Given the description of an element on the screen output the (x, y) to click on. 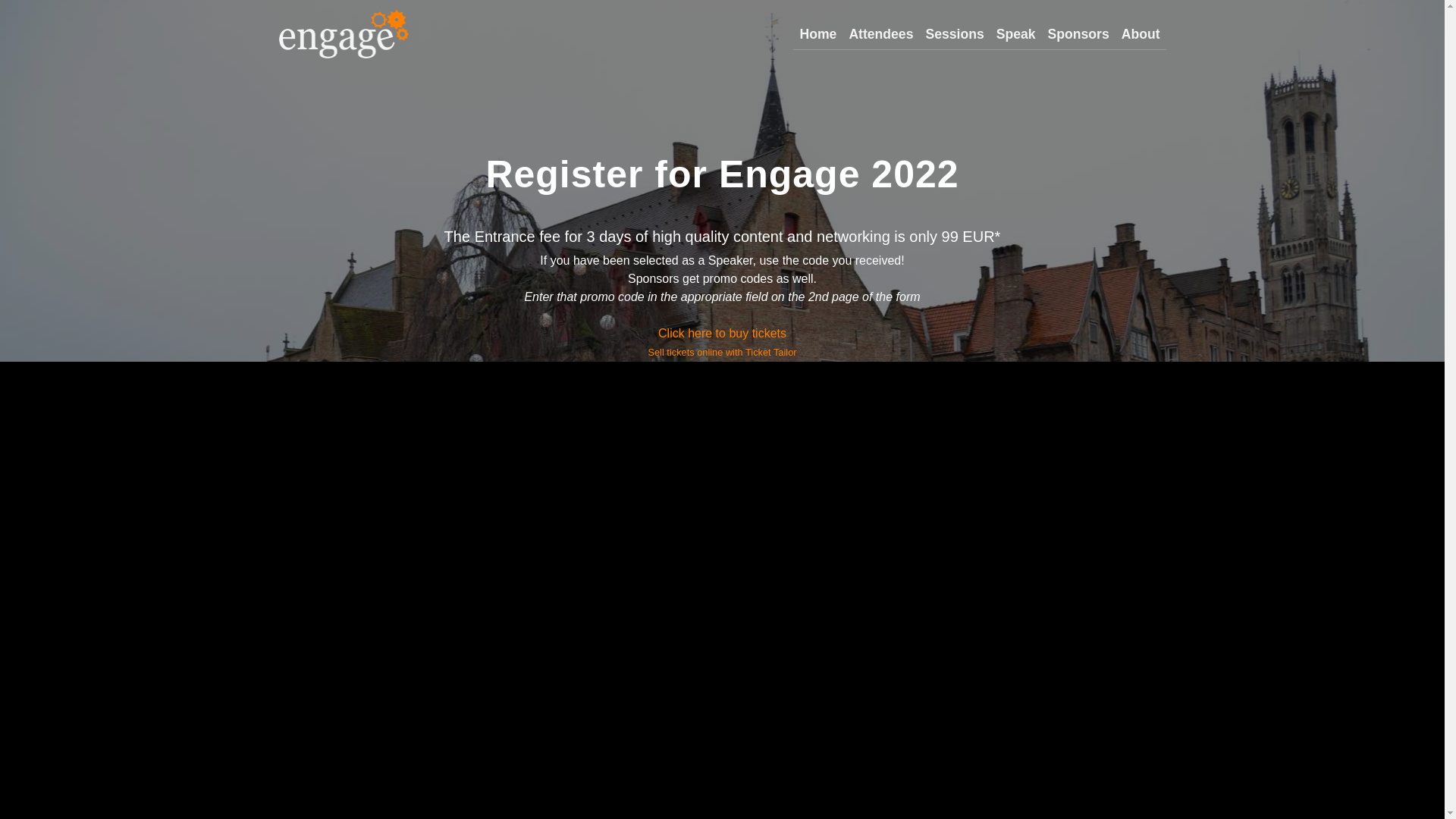
Speak (1016, 33)
Attendees (880, 33)
Sponsors (1078, 33)
Sell tickets online with Ticket Tailor (721, 351)
Click here to buy tickets (722, 332)
Home (818, 33)
Sessions (954, 33)
About (1140, 33)
Engage Logo (344, 33)
